Given the description of an element on the screen output the (x, y) to click on. 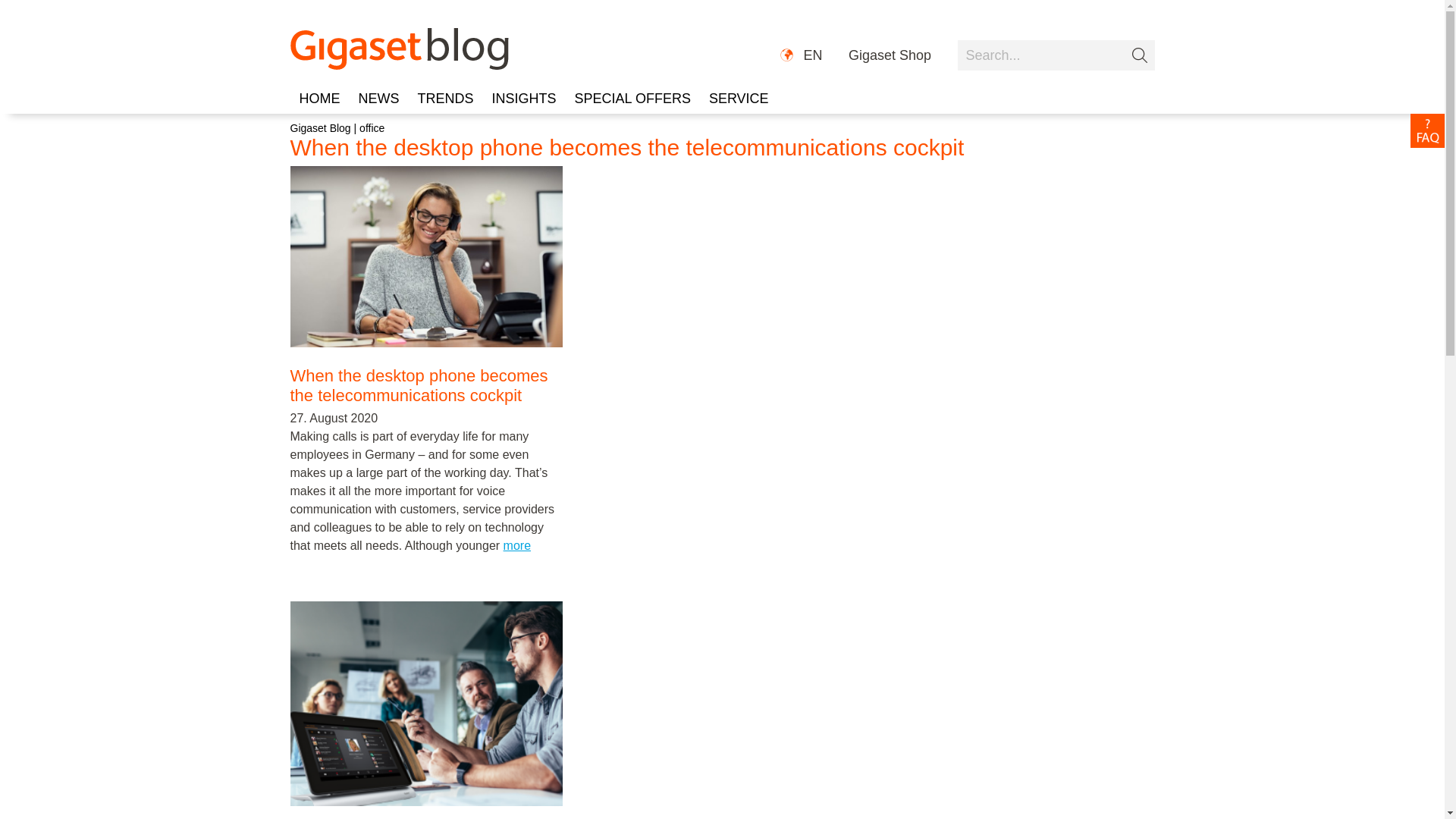
Gehe zu Gigaset Blog. (319, 128)
HOME (319, 98)
INSIGHTS (524, 98)
Gigaset Shop (889, 55)
NEWS (378, 98)
TRENDS (444, 98)
Search (1055, 55)
